Given the description of an element on the screen output the (x, y) to click on. 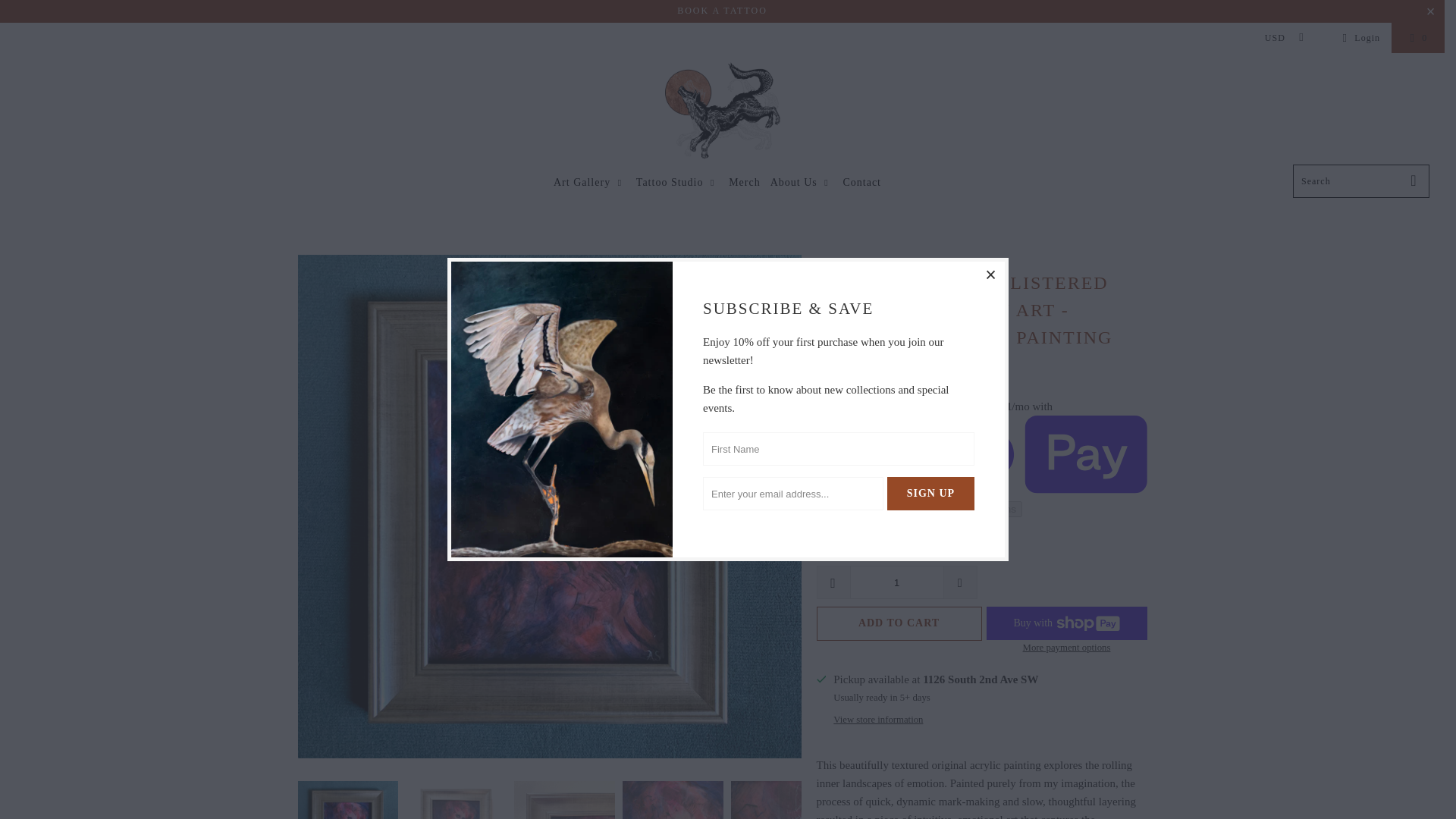
Sign Up (930, 493)
My Account  (1359, 37)
Booking Request Form (722, 9)
1 (895, 581)
The Copper Wolf  (722, 112)
